Given the description of an element on the screen output the (x, y) to click on. 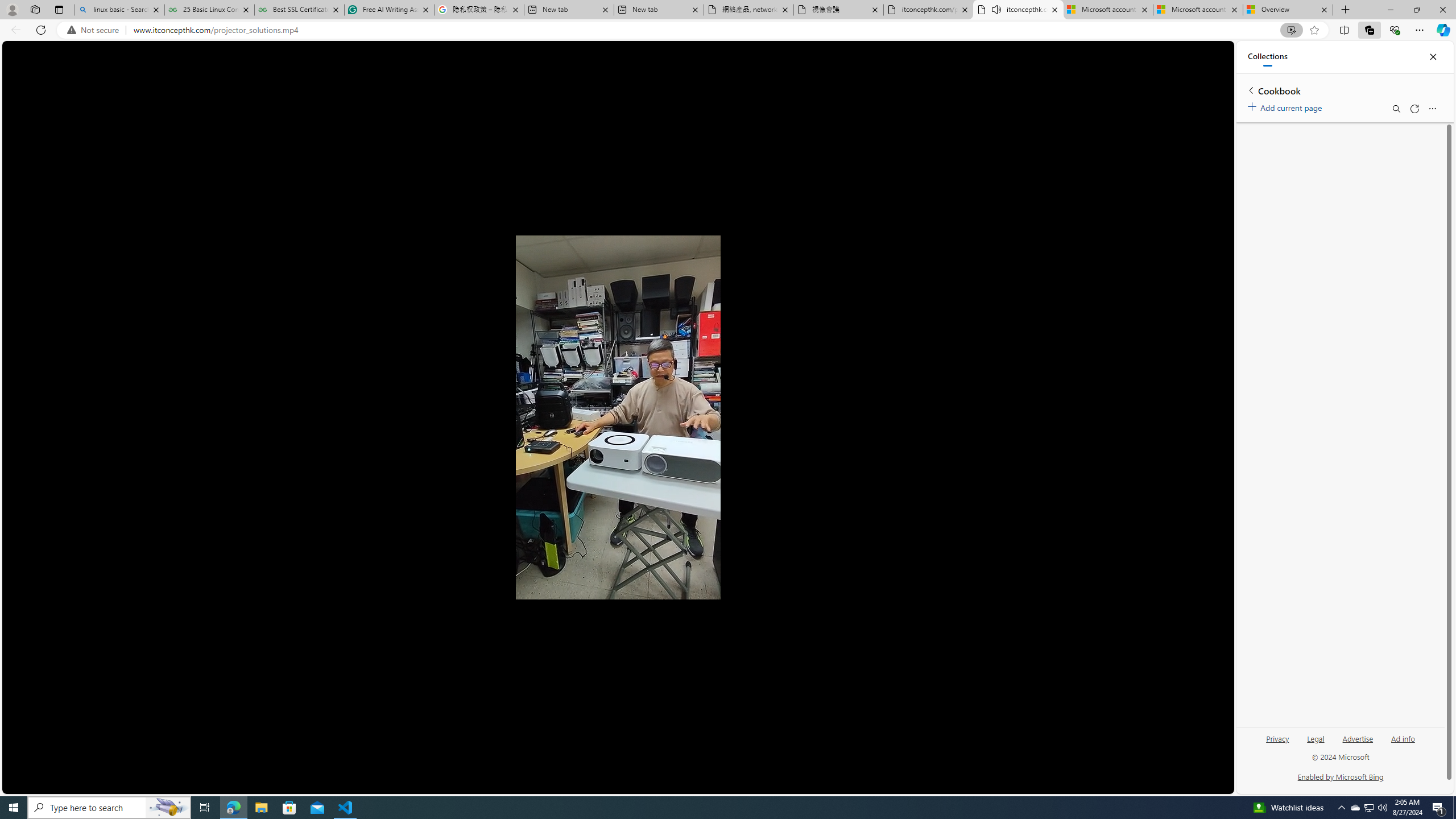
More options menu (1432, 108)
Mute tab (996, 8)
Back to list of collections (1250, 90)
